Given the description of an element on the screen output the (x, y) to click on. 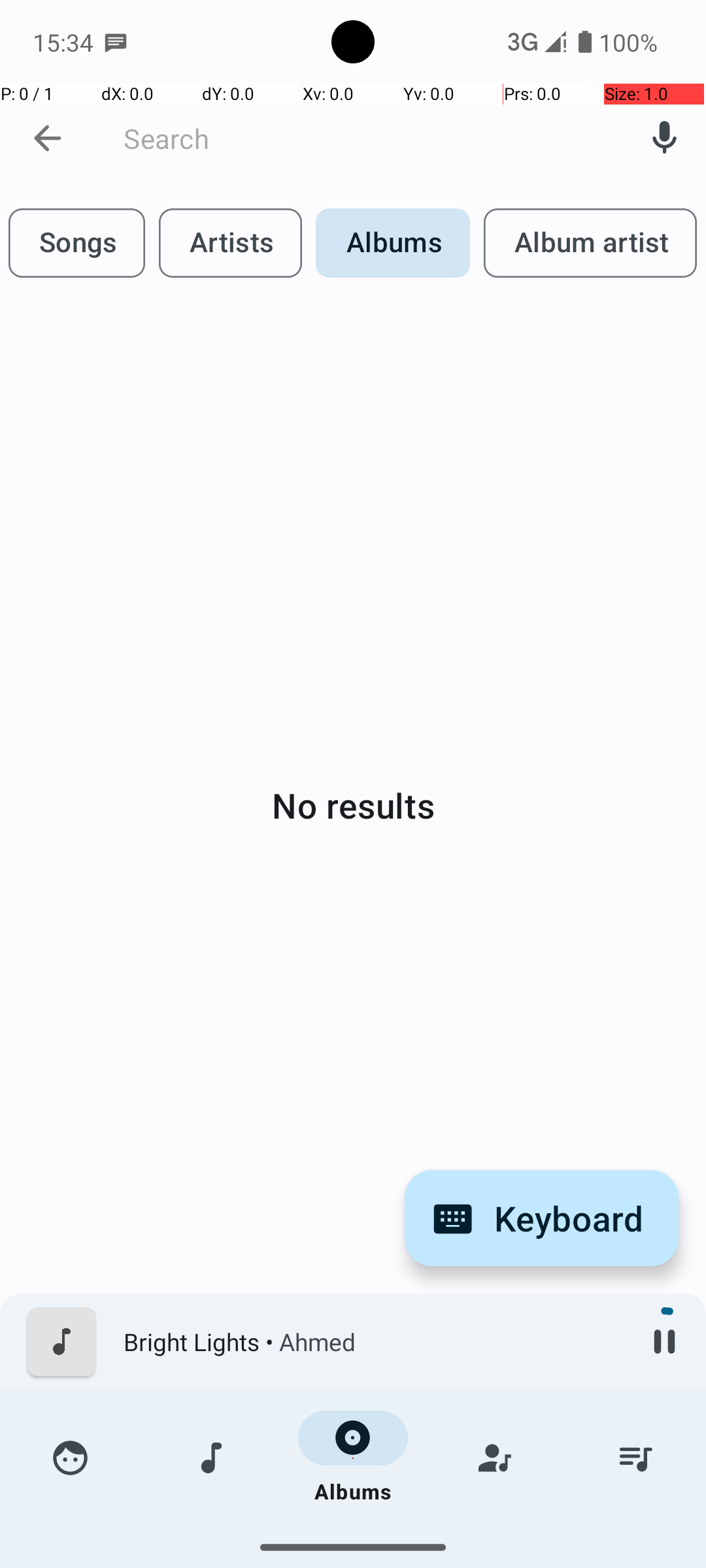
No results Element type: android.widget.TextView (352, 805)
Keyboard Element type: android.widget.Button (541, 1218)
Bright Lights • Ahmed Element type: android.widget.TextView (372, 1341)
Album artist Element type: android.widget.RadioButton (589, 242)
